Given the description of an element on the screen output the (x, y) to click on. 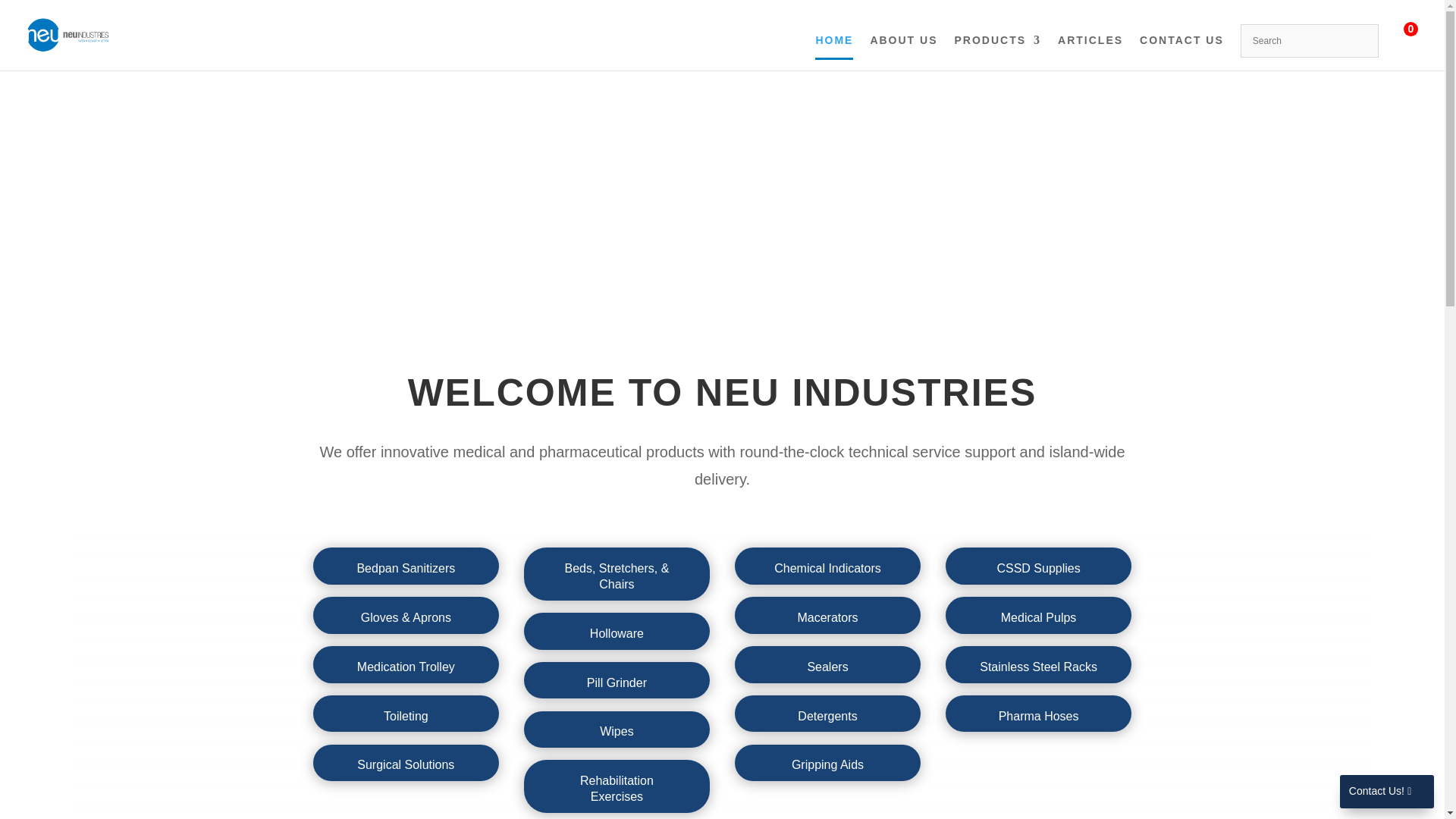
ABOUT US (903, 52)
PRODUCTS (998, 52)
HOME (834, 52)
